Given the description of an element on the screen output the (x, y) to click on. 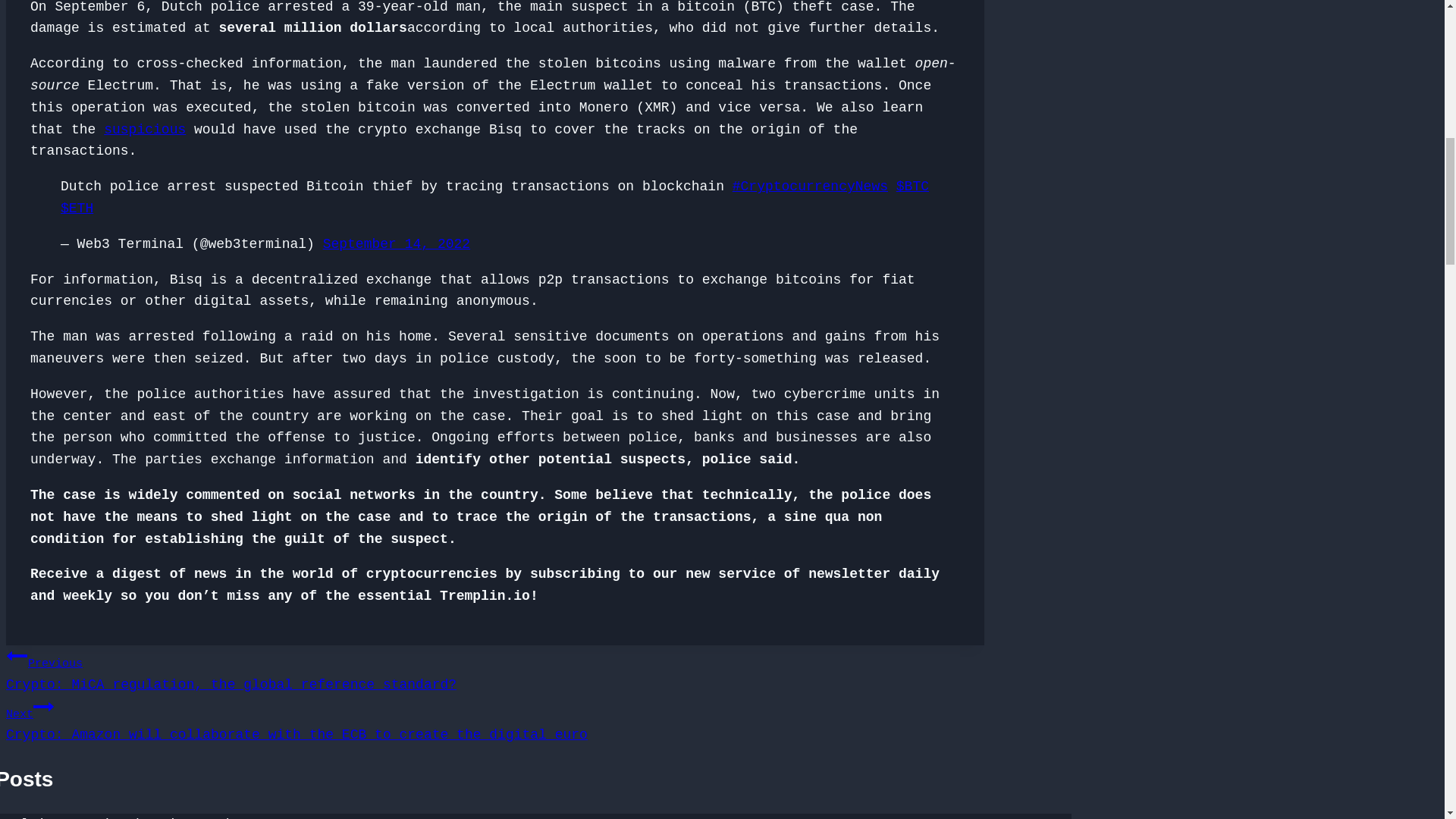
Previous (16, 655)
September 14, 2022 (396, 243)
suspicious (144, 129)
Continue (43, 706)
